Given the description of an element on the screen output the (x, y) to click on. 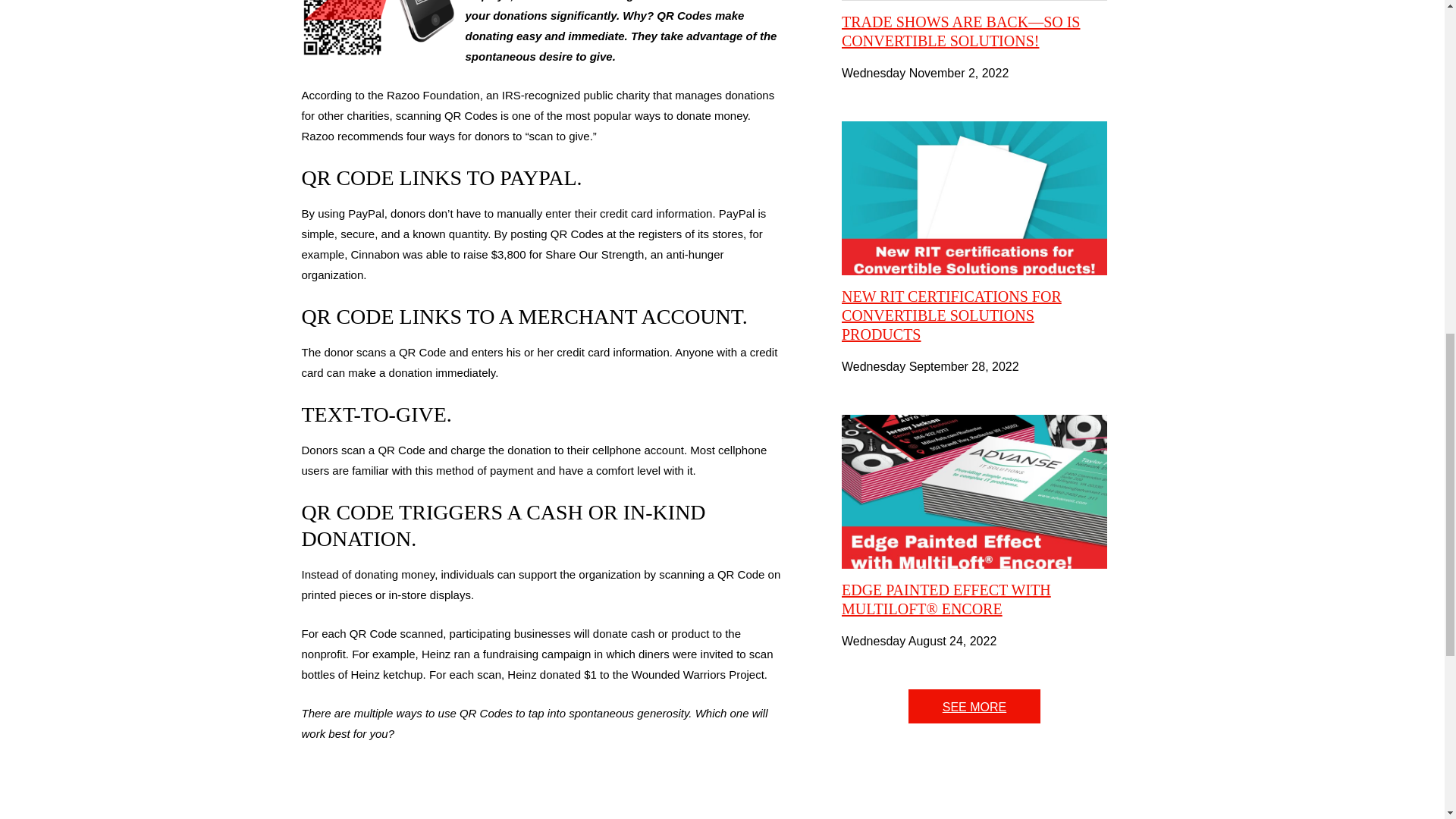
SEE MORE (974, 706)
NEW RIT CERTIFICATIONS FOR CONVERTIBLE SOLUTIONS PRODUCTS (951, 315)
